Given the description of an element on the screen output the (x, y) to click on. 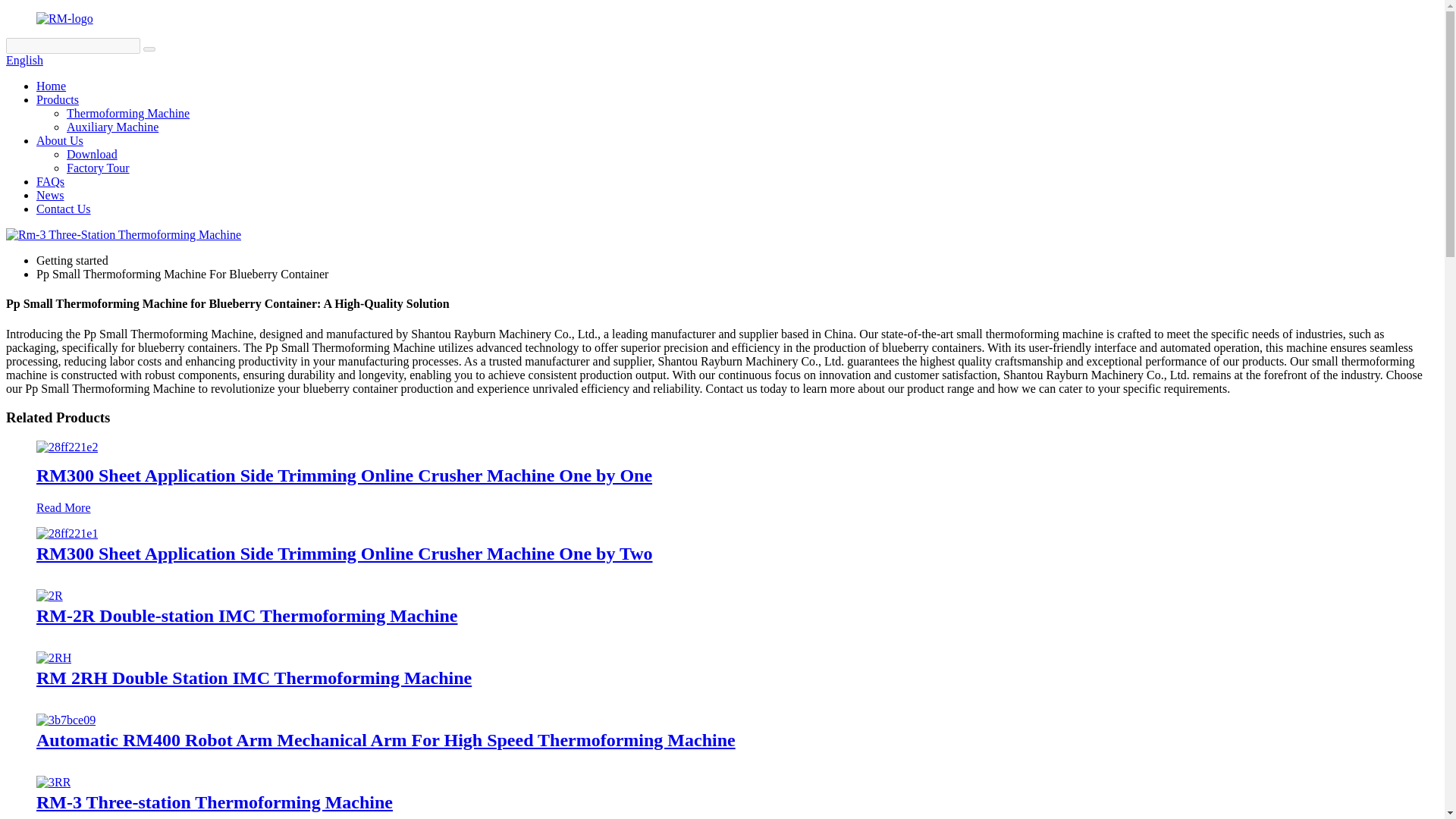
RM 2RH Double Station IMC Thermoforming Machine (253, 677)
RM-3 Three-station Thermoforming Machine (214, 801)
Products (57, 99)
Read More (63, 507)
Factory Tour (97, 167)
RM 2RH Double Station IMC Thermoforming Machine (253, 677)
Thermoforming Machine (127, 113)
Auxiliary Machine (112, 126)
RM-2R Double-station IMC Thermoforming Machine (49, 594)
